Given the description of an element on the screen output the (x, y) to click on. 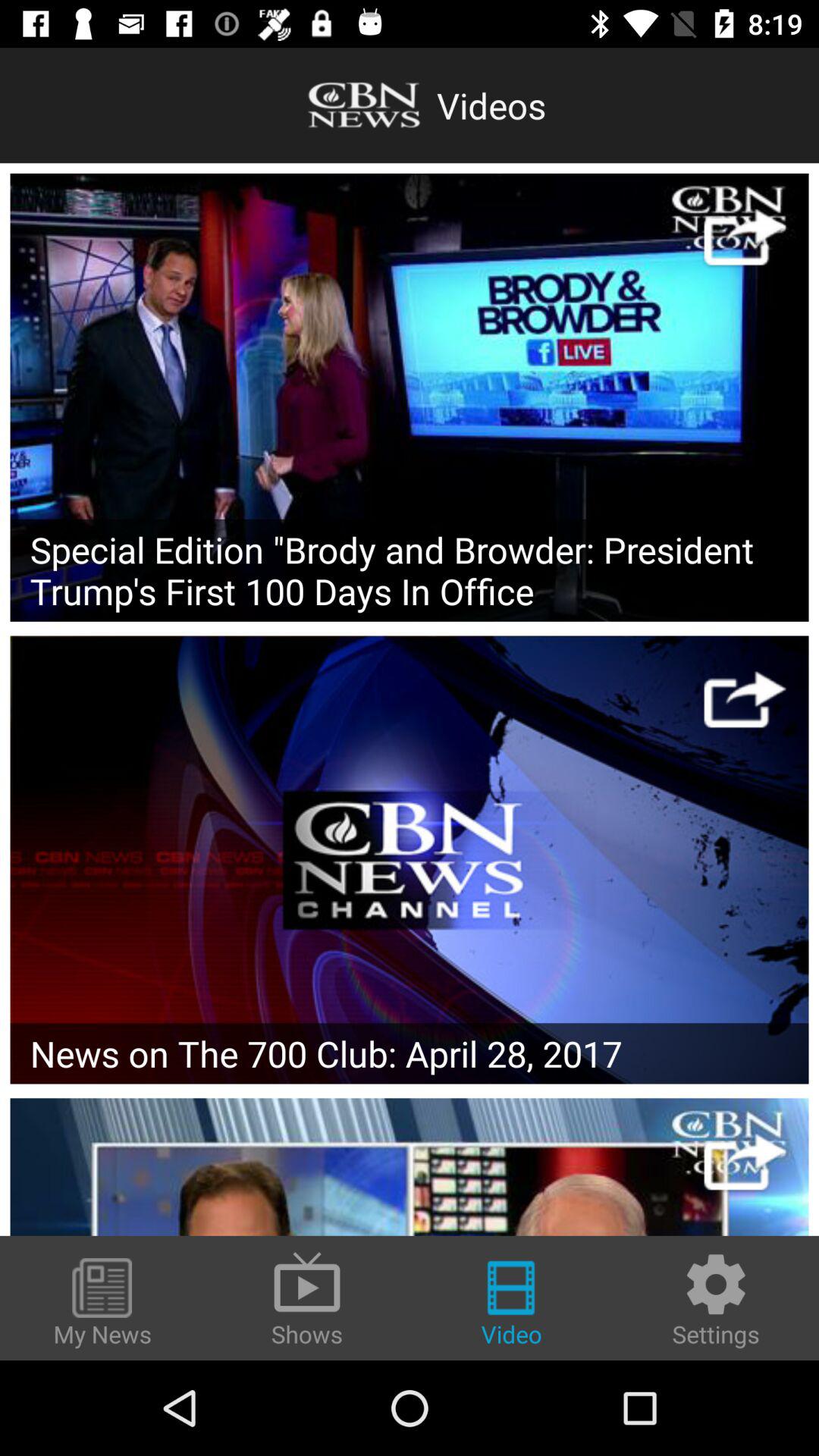
choose the icon next to video item (306, 1298)
